Given the description of an element on the screen output the (x, y) to click on. 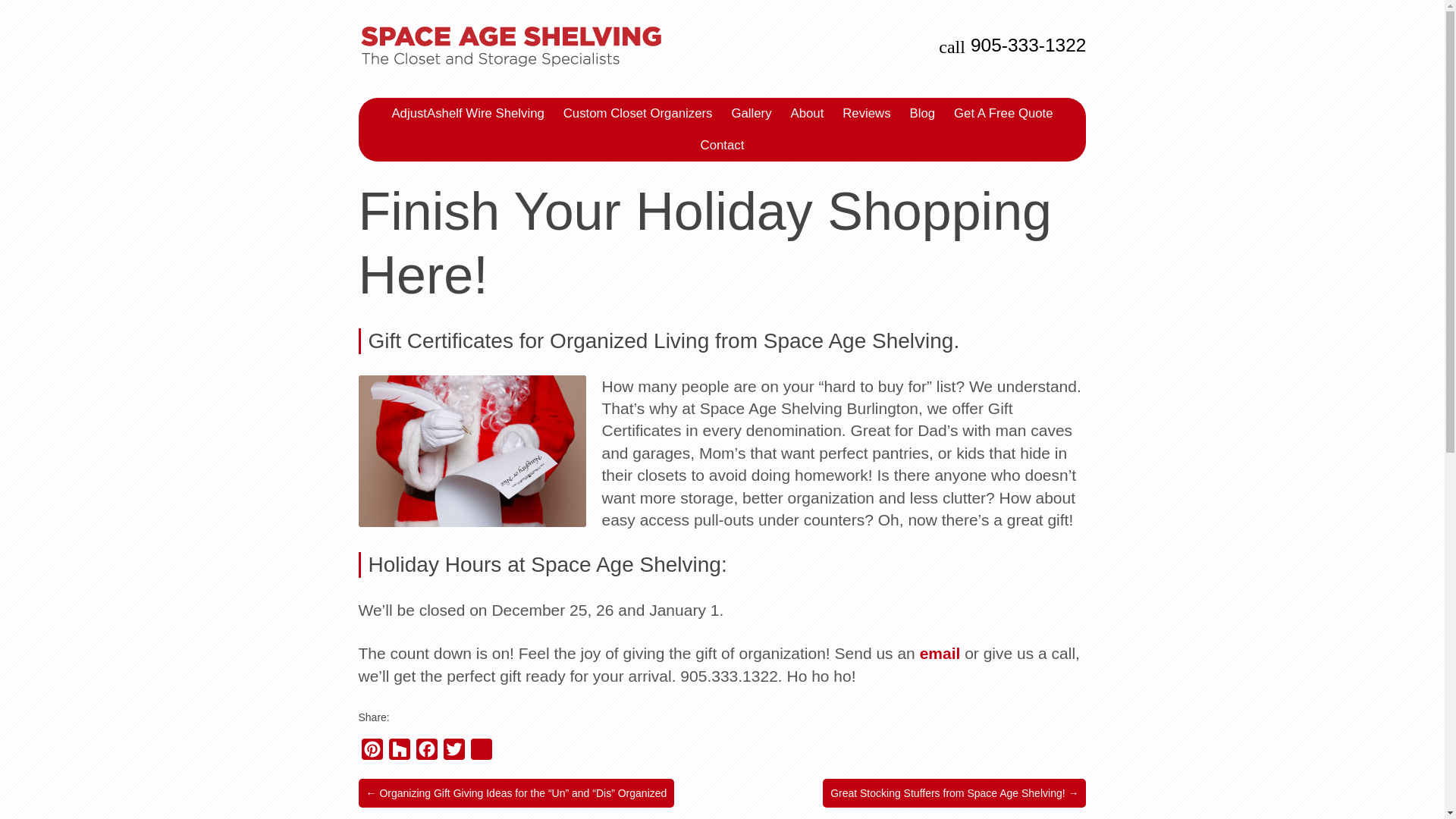
Get a Free Quote (1002, 113)
Get A Free Quote (1002, 113)
AdjustAshelf Wire Shelving (467, 113)
About (807, 113)
905-333-1322 (1028, 46)
Twitter (453, 752)
Reviews (866, 113)
Custom Closet Organizers (638, 113)
